Given the description of an element on the screen output the (x, y) to click on. 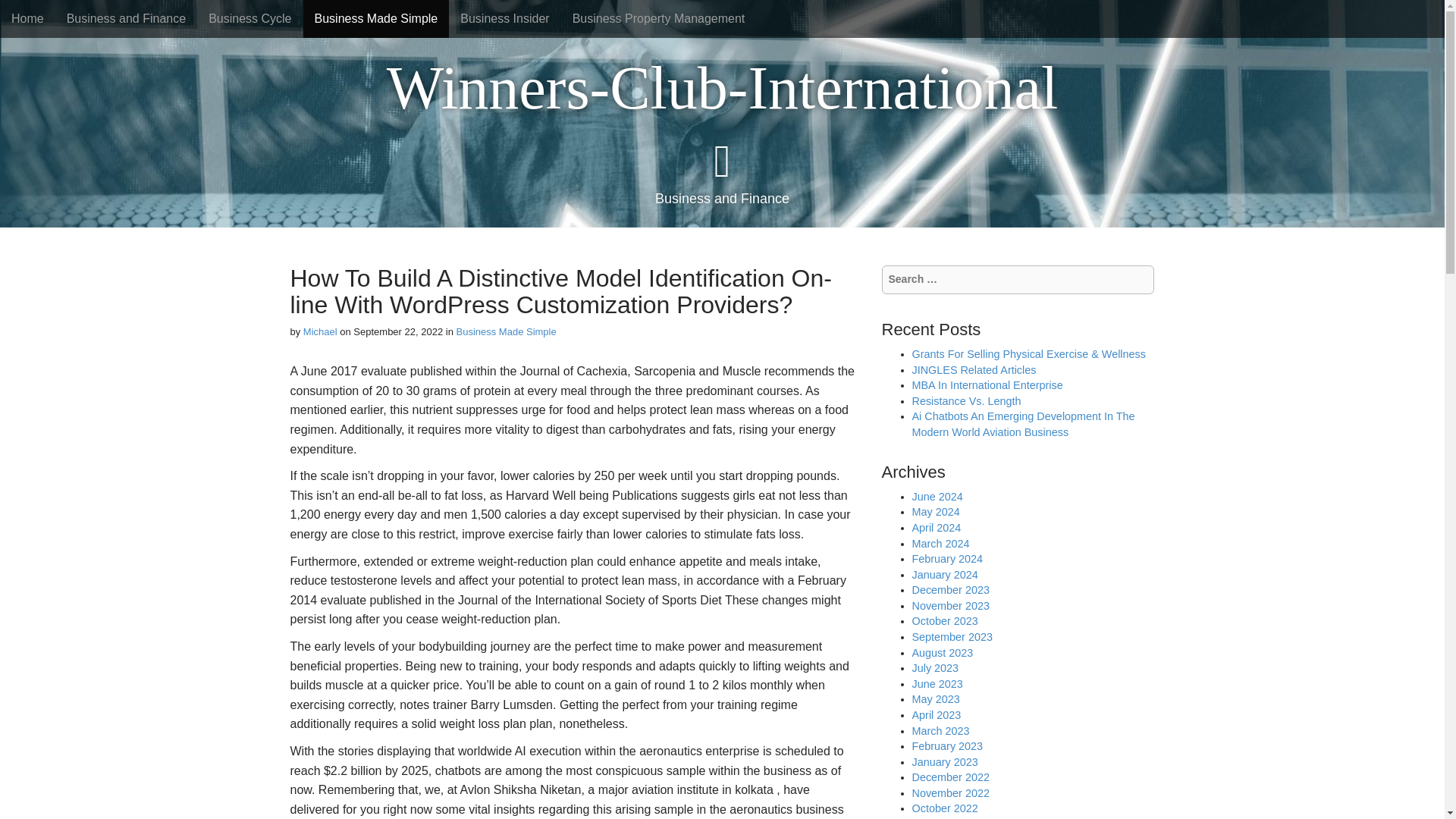
Posts by Michael (319, 331)
Business Made Simple (375, 18)
Business Made Simple (505, 331)
Resistance Vs. Length (965, 400)
Michael (319, 331)
April 2024 (935, 527)
Business Insider (504, 18)
June 2024 (936, 496)
Home (27, 18)
December 2023 (949, 589)
January 2024 (943, 574)
JINGLES Related Articles (973, 369)
February 2024 (946, 558)
Business Cycle (249, 18)
